Given the description of an element on the screen output the (x, y) to click on. 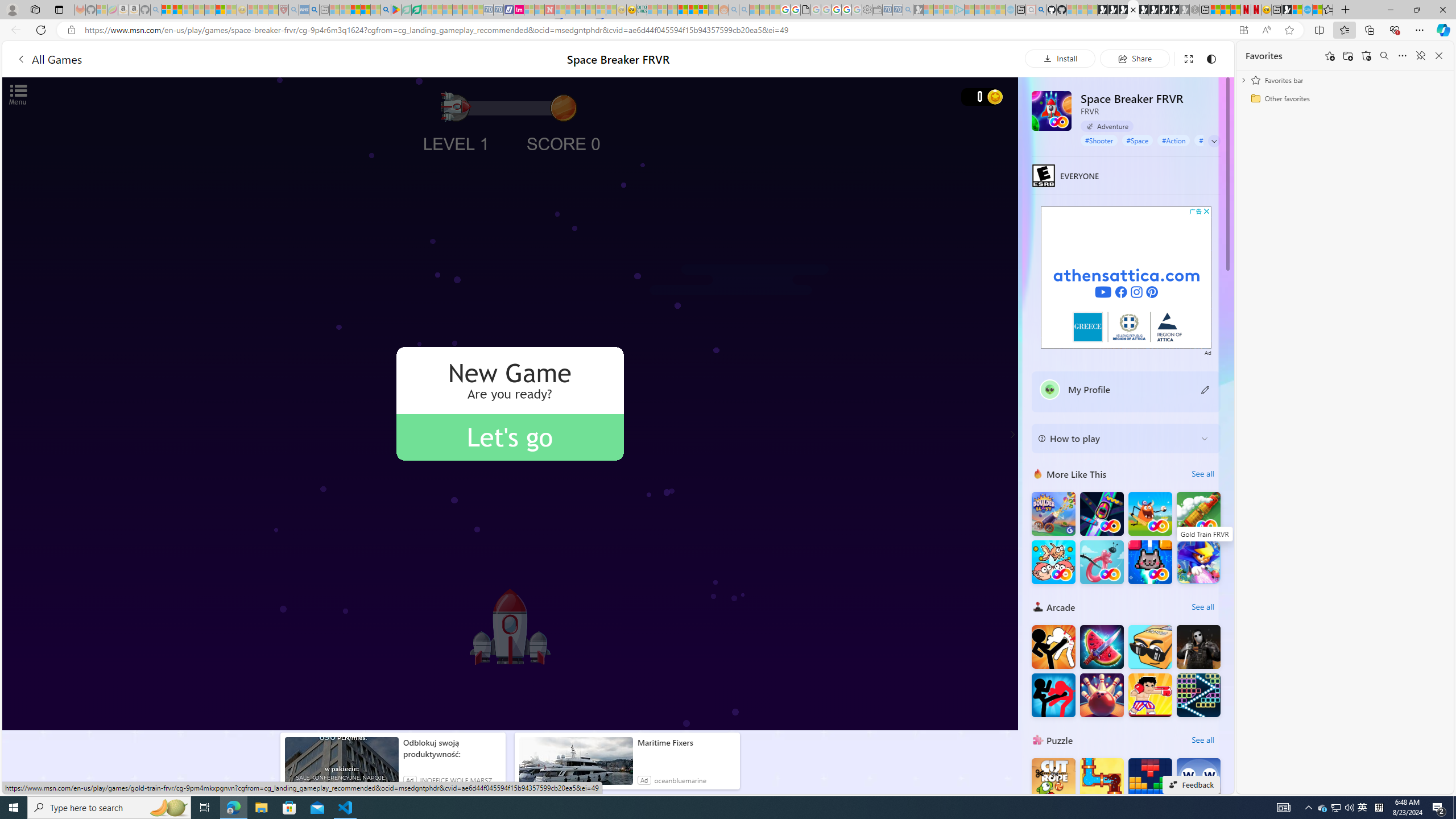
#Space (1137, 140)
Home | Sky Blue Bikes - Sky Blue Bikes (1307, 9)
Arcade (1037, 606)
google_privacy_policy_zh-CN.pdf (804, 9)
Play Cave FRVR in your browser | Games from Microsoft Start (1122, 9)
Unpin favorites (1420, 55)
Search favorites (1383, 55)
Robert H. Shmerling, MD - Harvard Health - Sleeping (283, 9)
Share (1134, 58)
Utah sues federal government - Search - Sleeping (743, 9)
Stickman Fighter : Mega Brawl (1053, 646)
